Given the description of an element on the screen output the (x, y) to click on. 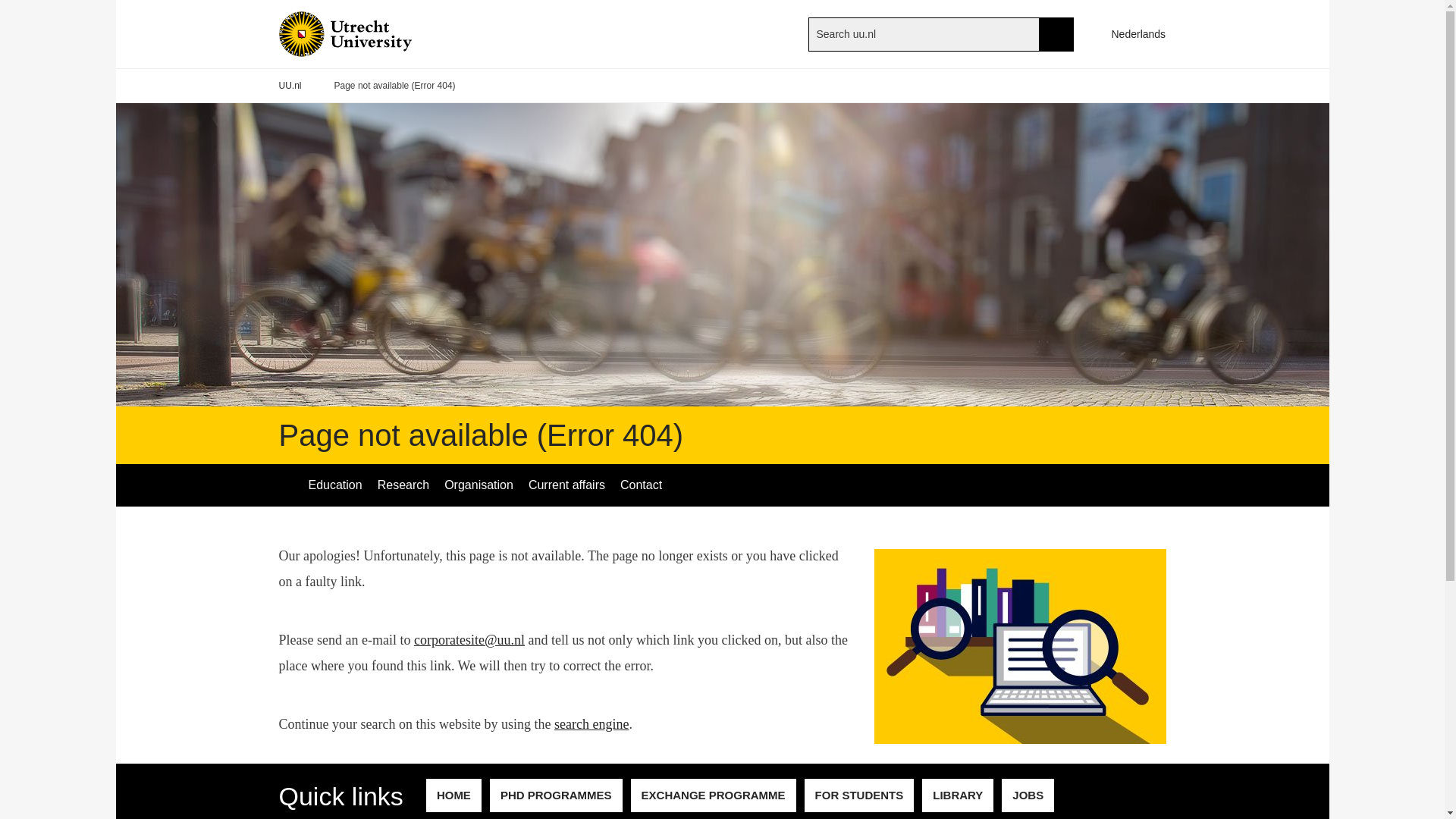
SEARCH (1056, 33)
Home (370, 33)
LIBRARY (956, 795)
UU.nl (290, 85)
EXCHANGE PROGRAMME (713, 795)
FOR STUDENTS (859, 795)
Organisation (478, 485)
Current affairs (566, 485)
Skip to main content (7, 7)
